Given the description of an element on the screen output the (x, y) to click on. 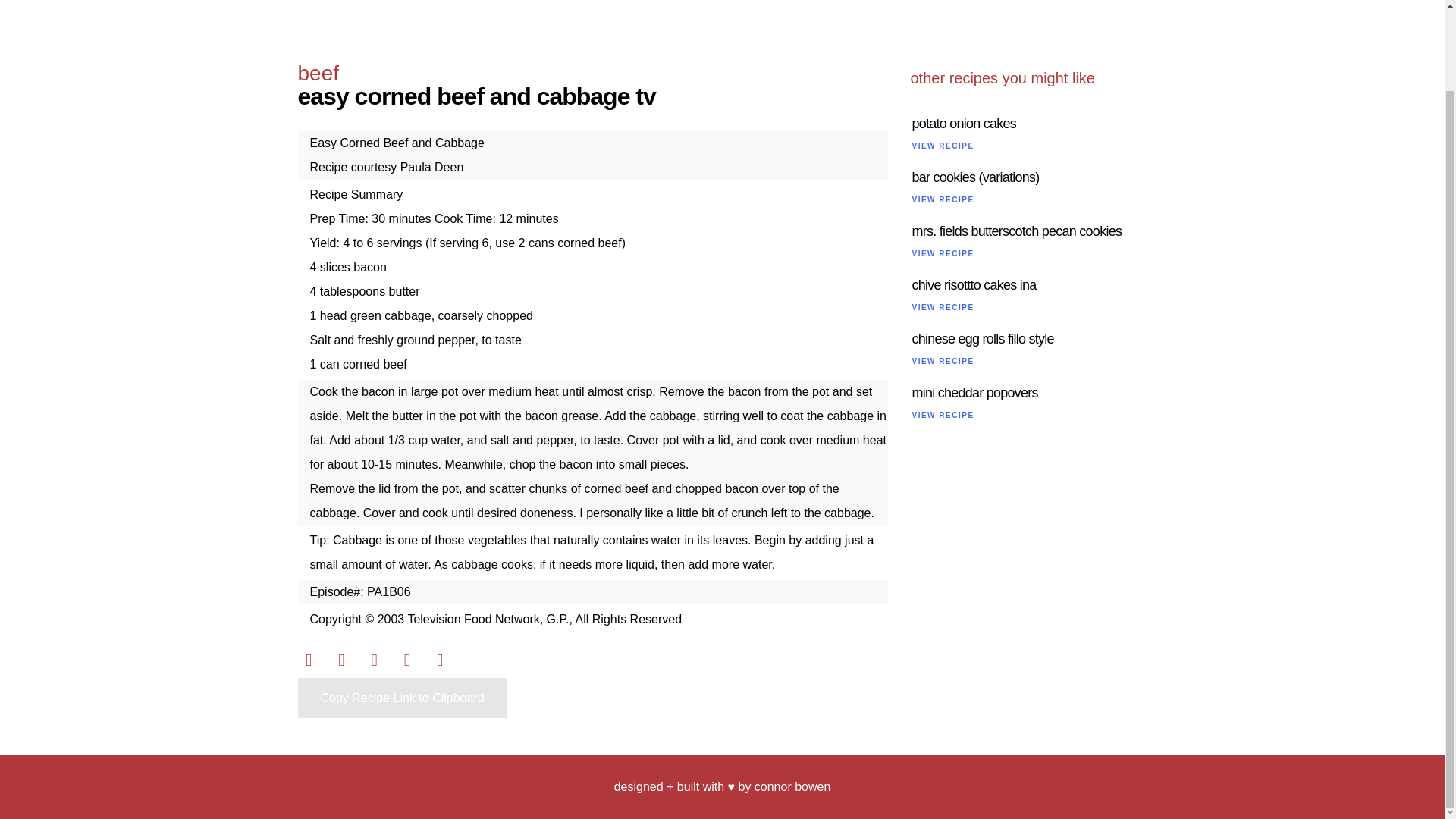
VIEW RECIPE (942, 307)
VIEW RECIPE (942, 361)
VIEW RECIPE (942, 199)
beef (318, 73)
VIEW RECIPE (942, 253)
potato onion cakes (963, 123)
chive risottto cakes ina (973, 284)
mrs. fields butterscotch pecan cookies (1016, 231)
VIEW RECIPE (942, 145)
Copy Recipe Link to Clipboard (401, 698)
mini cheddar popovers (973, 392)
VIEW RECIPE (942, 415)
chinese egg rolls fillo style (981, 338)
